Given the description of an element on the screen output the (x, y) to click on. 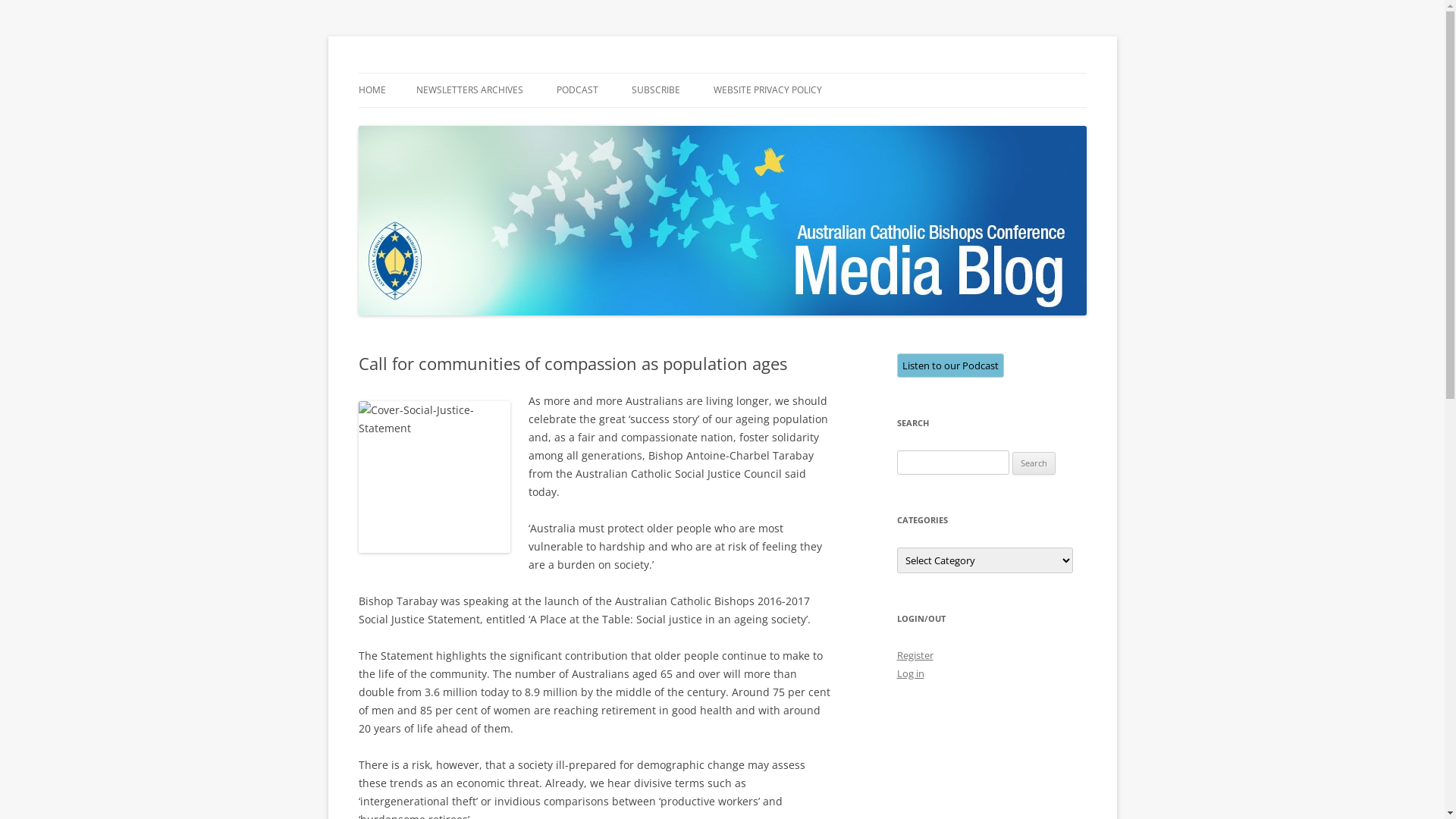
HOME Element type: text (371, 89)
Listen to our Podcast Element type: text (949, 365)
NEWSLETTERS ARCHIVES Element type: text (468, 89)
Register Element type: text (914, 655)
WEBSITE PRIVACY POLICY Element type: text (766, 89)
PODCAST Element type: text (577, 89)
SUBSCRIBE Element type: text (654, 89)
Search Element type: text (1033, 462)
Listen to our Podcast Element type: text (949, 365)
Skip to content Element type: text (721, 72)
ACBC Media Blog Element type: text (440, 72)
Log in Element type: text (909, 673)
